Given the description of an element on the screen output the (x, y) to click on. 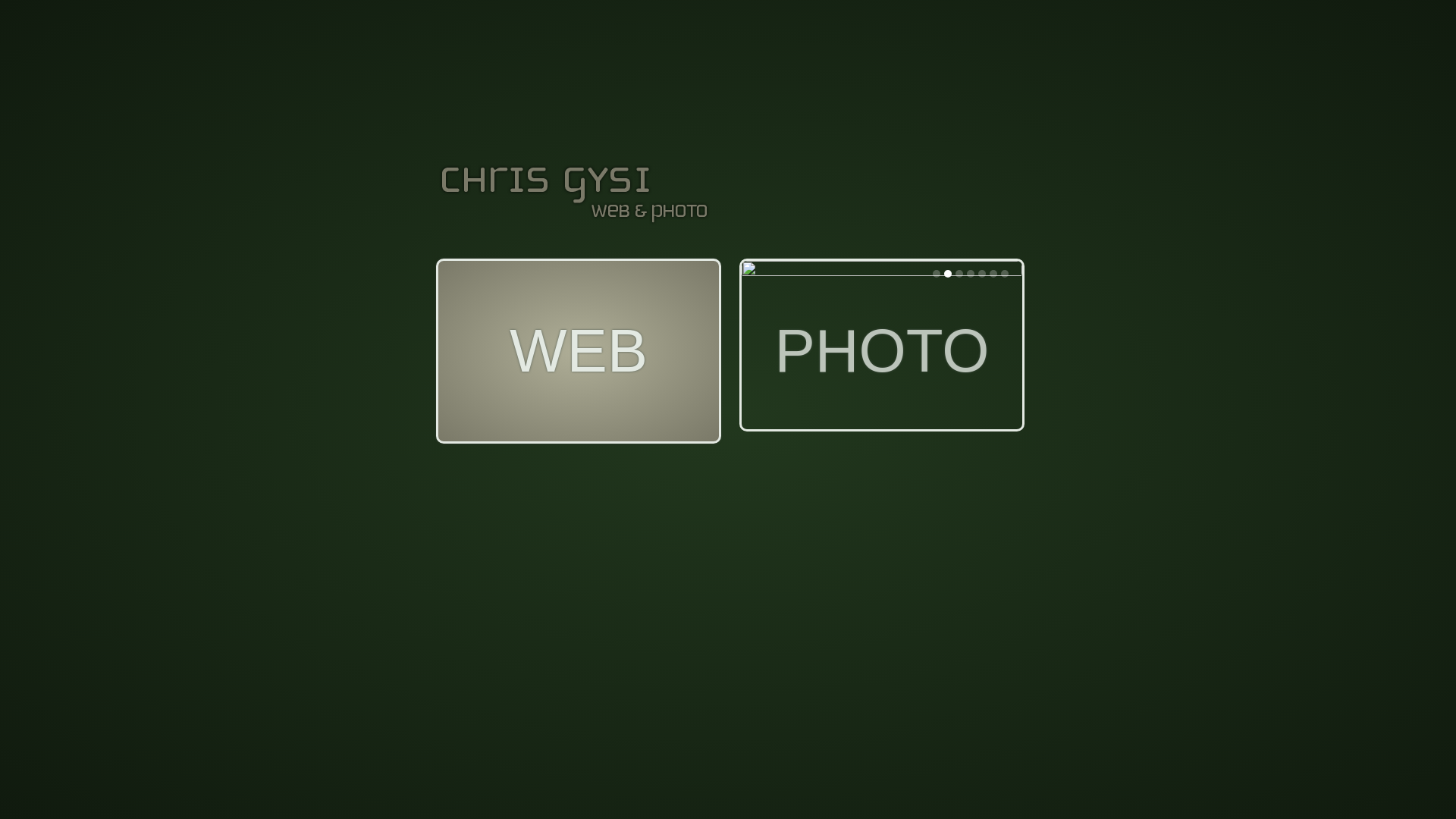
PHOTO Element type: text (881, 346)
WEB Element type: text (578, 350)
